Given the description of an element on the screen output the (x, y) to click on. 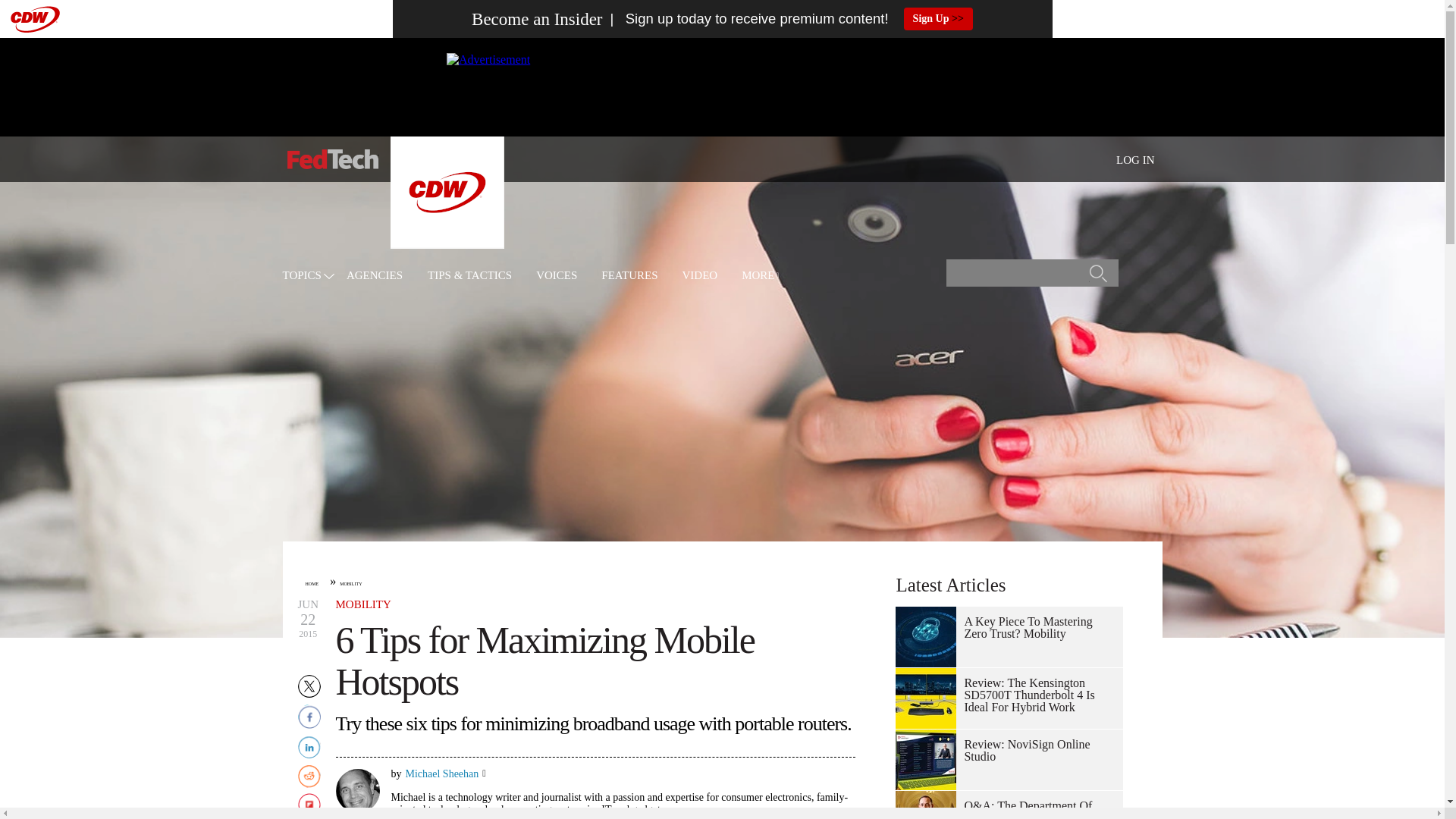
VOICES (555, 275)
Become an Insider (536, 18)
VIDEO (699, 275)
User menu (1135, 160)
Sign up today to receive premium content! (745, 19)
advertisement (721, 87)
FEATURES (629, 275)
AGENCIES (374, 275)
LOG IN (1135, 159)
